Given the description of an element on the screen output the (x, y) to click on. 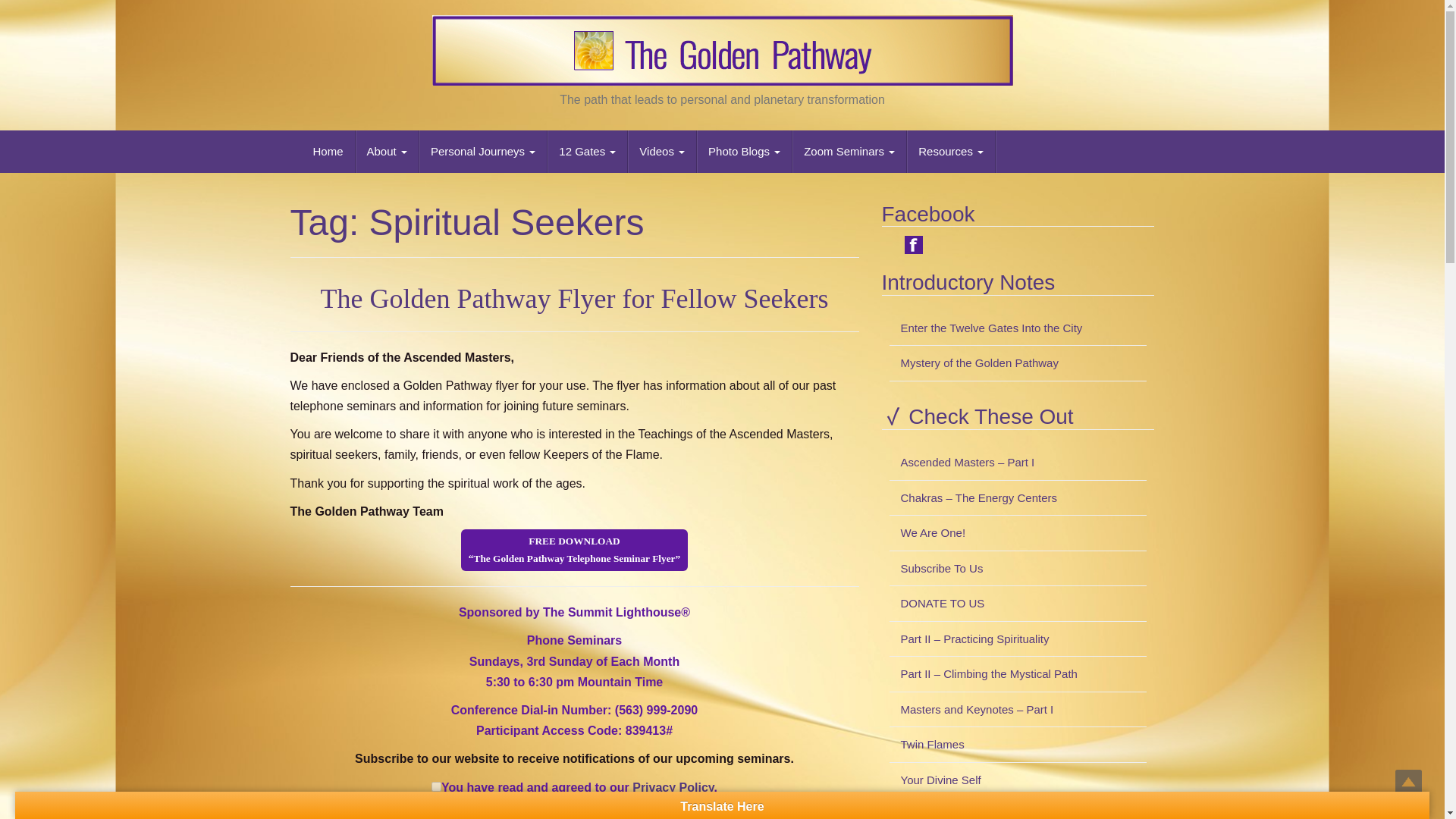
Home (328, 151)
About (387, 151)
1 (435, 786)
12 Gates (587, 151)
Personal Journeys (483, 151)
Home (328, 151)
Photo Blogs (744, 151)
12 Gates (587, 151)
About (387, 151)
Videos (662, 151)
Personal Journeys (483, 151)
